Given the description of an element on the screen output the (x, y) to click on. 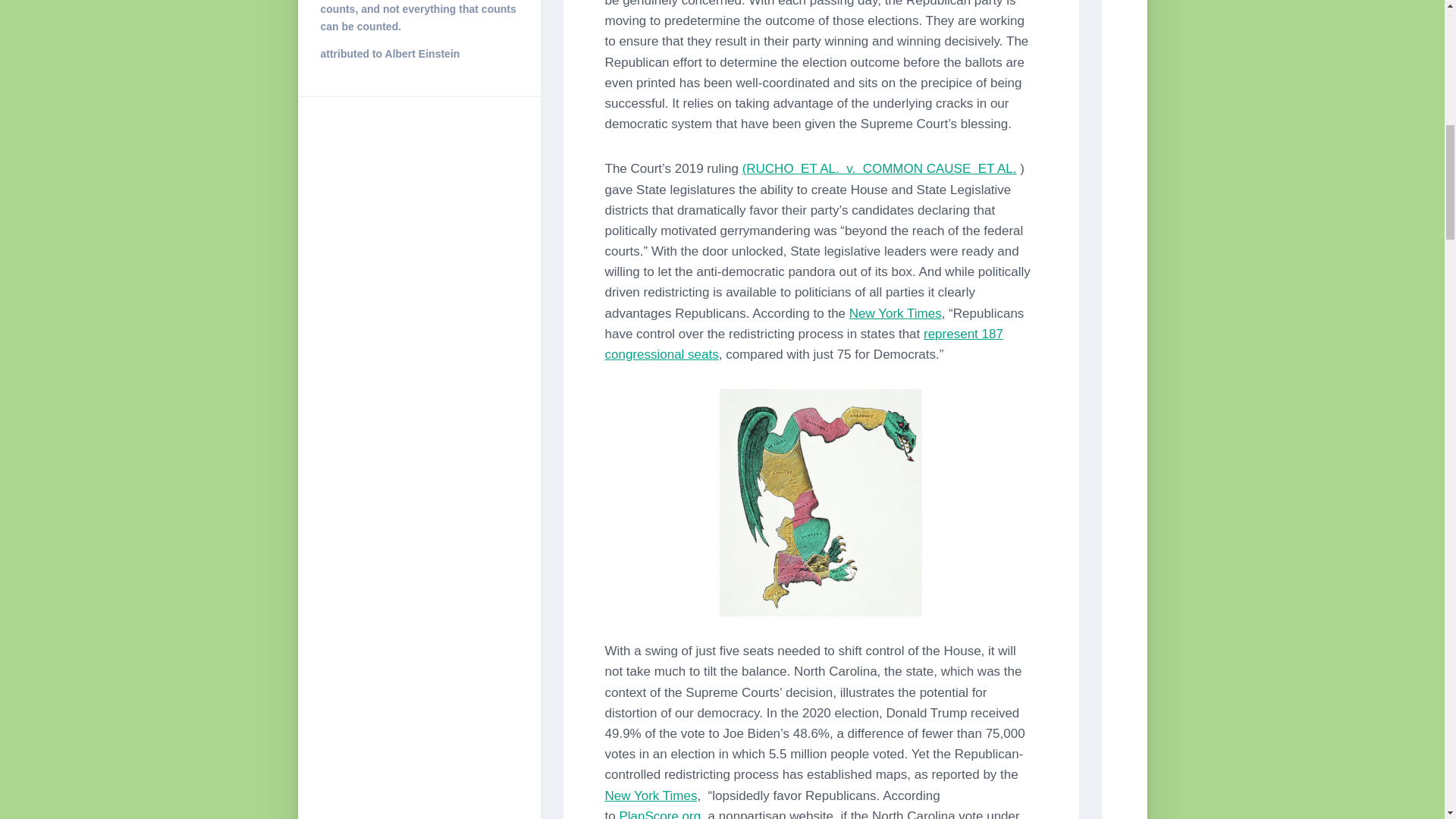
PlanScore.org (659, 814)
New York Times (895, 313)
represent 187 congressional seats (804, 343)
New York Times (651, 795)
